Given the description of an element on the screen output the (x, y) to click on. 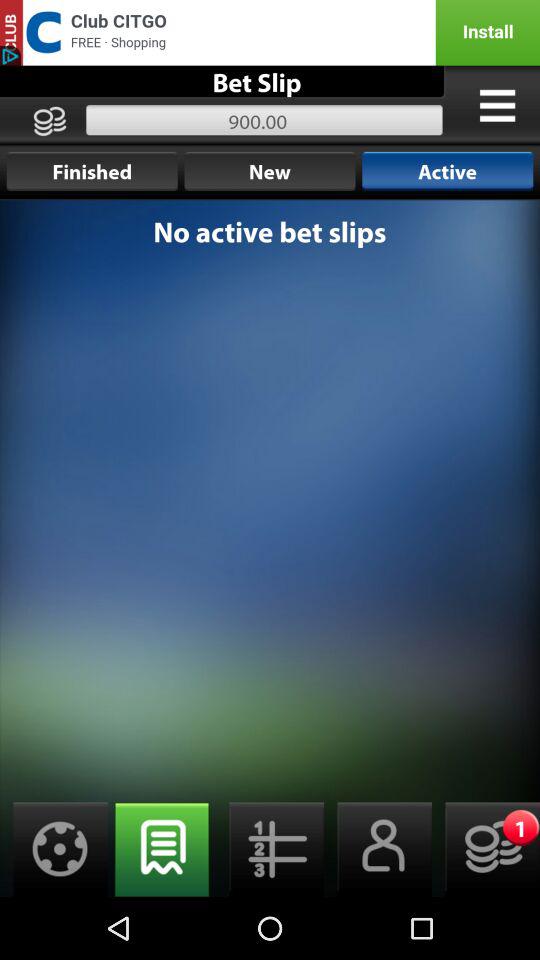
select the middle button below no active bet slips (270, 849)
select the fifth icon which is at the bottom right corner (486, 849)
click on option in bottom from left it is fourth (378, 849)
